Given the description of an element on the screen output the (x, y) to click on. 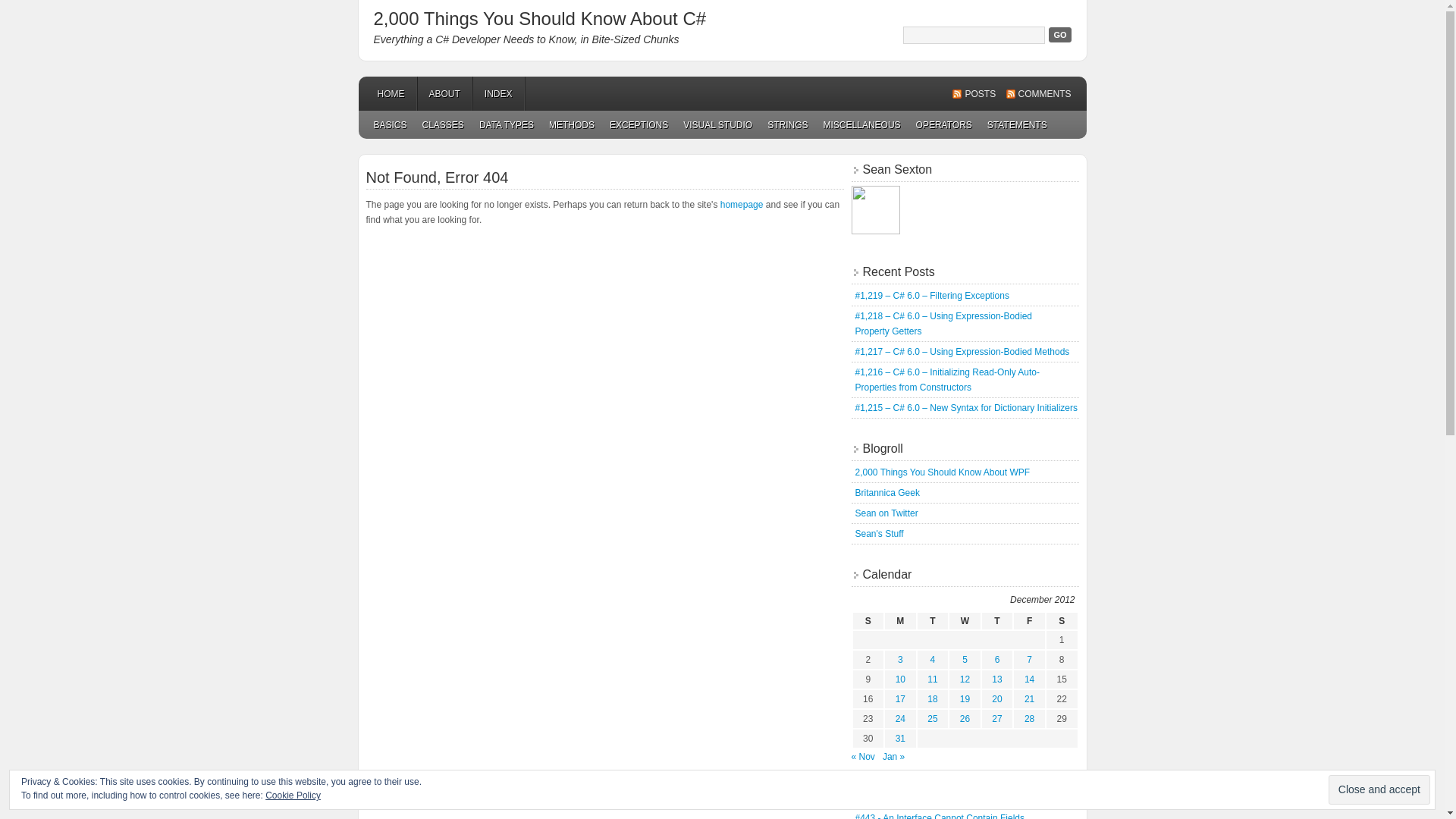
INDEX Element type: text (499, 93)
11 Element type: text (932, 679)
6 Element type: text (997, 659)
BASICS Element type: text (389, 124)
31 Element type: text (900, 738)
2,000 Things You Should Know About WPF Element type: text (942, 472)
21 Element type: text (1029, 698)
25 Element type: text (932, 718)
24 Element type: text (900, 718)
19 Element type: text (964, 698)
Sean's Stuff Element type: text (879, 533)
27 Element type: text (996, 718)
2,000 Things You Should Know About C# Element type: text (539, 18)
MISCELLANEOUS Element type: text (861, 124)
CLASSES Element type: text (442, 124)
DATA TYPES Element type: text (506, 124)
5 Element type: text (964, 659)
HOME Element type: text (391, 93)
COMMENTS Element type: text (1037, 93)
4 Element type: text (932, 659)
7 Element type: text (1029, 659)
homepage Element type: text (741, 204)
Britannica Geek Element type: text (887, 492)
POSTS Element type: text (973, 93)
3 Element type: text (900, 659)
Cookie Policy Element type: text (292, 795)
VISUAL STUDIO Element type: text (717, 124)
13 Element type: text (996, 679)
METHODS Element type: text (571, 124)
ABOUT Element type: text (444, 93)
STATEMENTS Element type: text (1016, 124)
18 Element type: text (932, 698)
26 Element type: text (964, 718)
Go Element type: text (1059, 34)
Sean on Twitter Element type: text (886, 513)
20 Element type: text (996, 698)
14 Element type: text (1029, 679)
Close and accept Element type: text (1379, 789)
12 Element type: text (964, 679)
28 Element type: text (1029, 718)
10 Element type: text (900, 679)
STRINGS Element type: text (787, 124)
17 Element type: text (900, 698)
OPERATORS Element type: text (943, 124)
EXCEPTIONS Element type: text (638, 124)
